Given the description of an element on the screen output the (x, y) to click on. 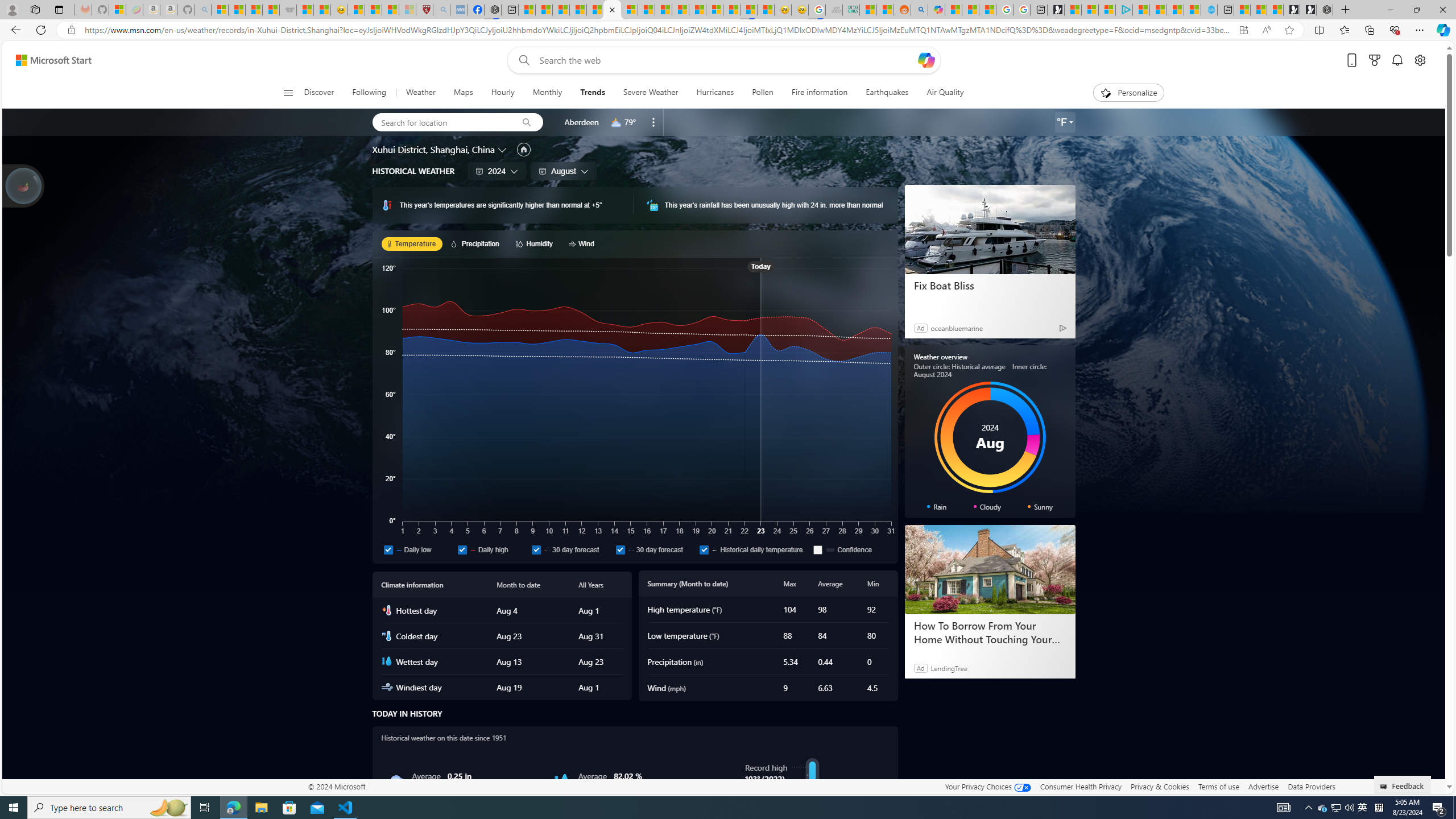
Robert H. Shmerling, MD - Harvard Health (424, 9)
Earthquakes (886, 92)
Hurricanes (714, 92)
Maps (462, 92)
Your Privacy Choices (987, 785)
